Given the description of an element on the screen output the (x, y) to click on. 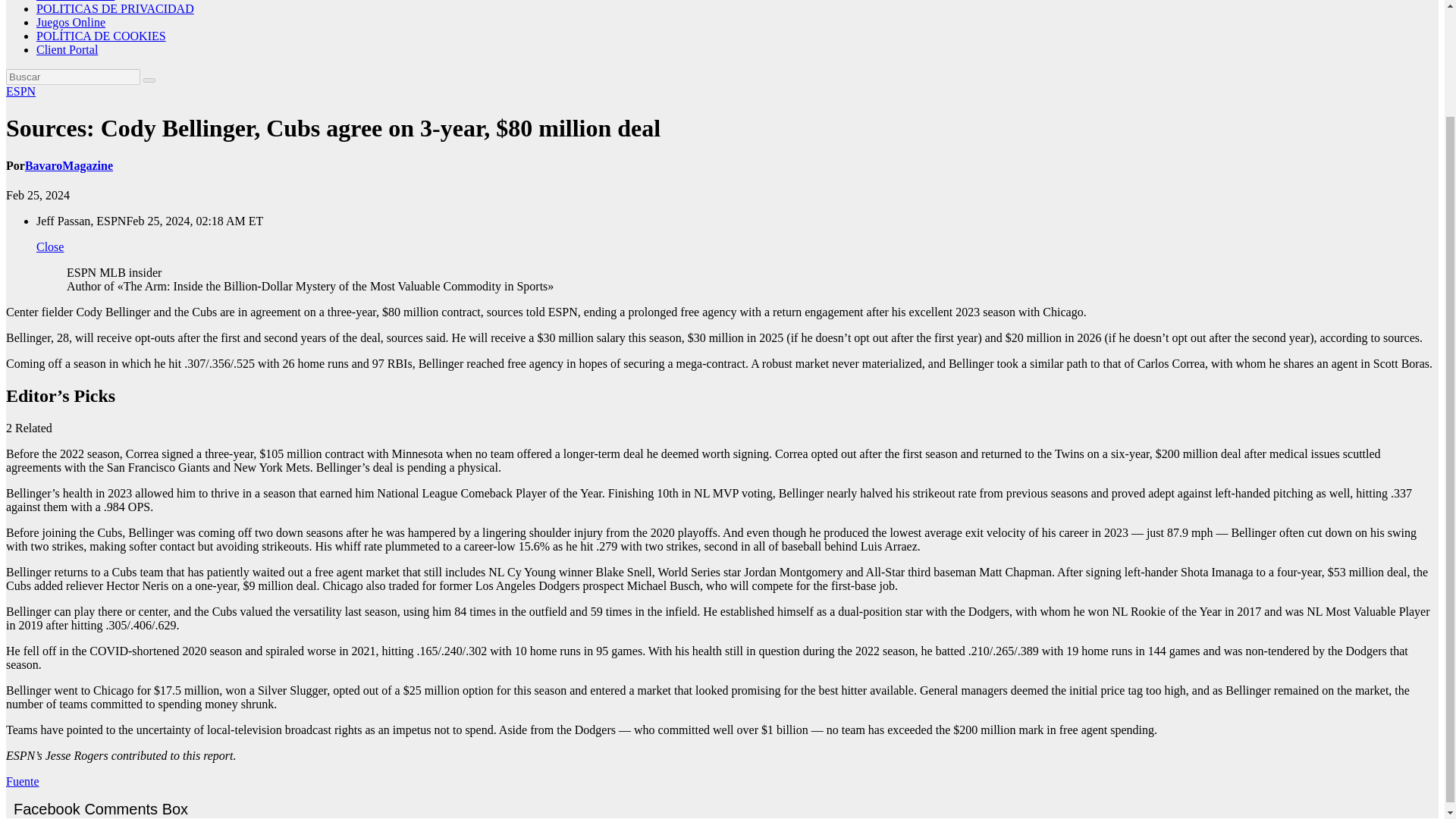
Juegos Online (70, 21)
Client Portal (66, 49)
ESPN (19, 91)
BavaroMagazine (68, 164)
Juegos Online (70, 21)
POLITICAS DE PRIVACIDAD (114, 8)
AVISO LEGAL (75, 0)
Fuente (22, 780)
AVISO LEGAL (75, 0)
Close (50, 246)
POLITICAS DE PRIVACIDAD (114, 8)
Client Portal (66, 49)
